Given the description of an element on the screen output the (x, y) to click on. 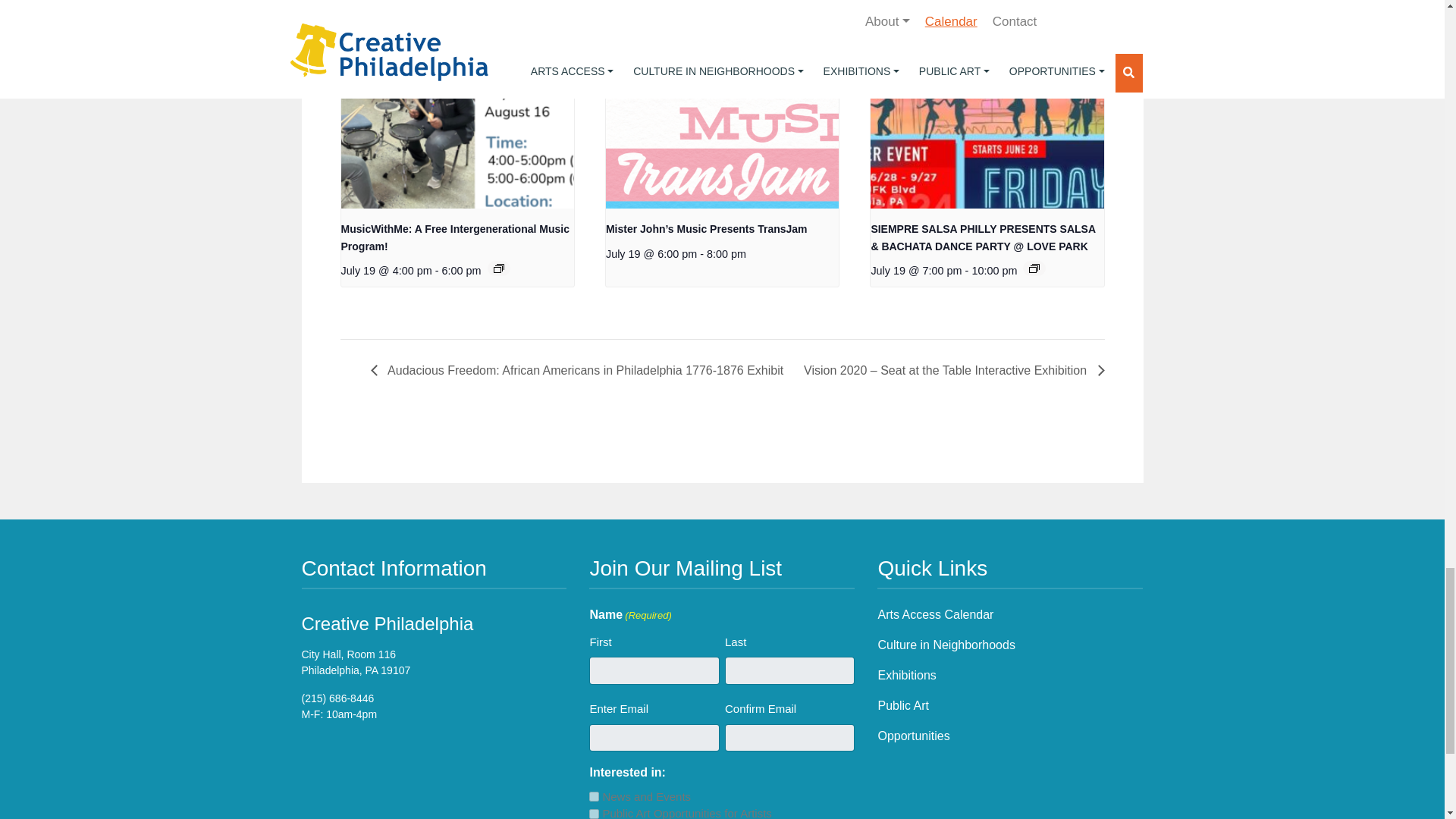
News and Events (593, 796)
Event Series (1034, 267)
Public Art Opportunities for Artists (593, 814)
Event Series (498, 267)
